Given the description of an element on the screen output the (x, y) to click on. 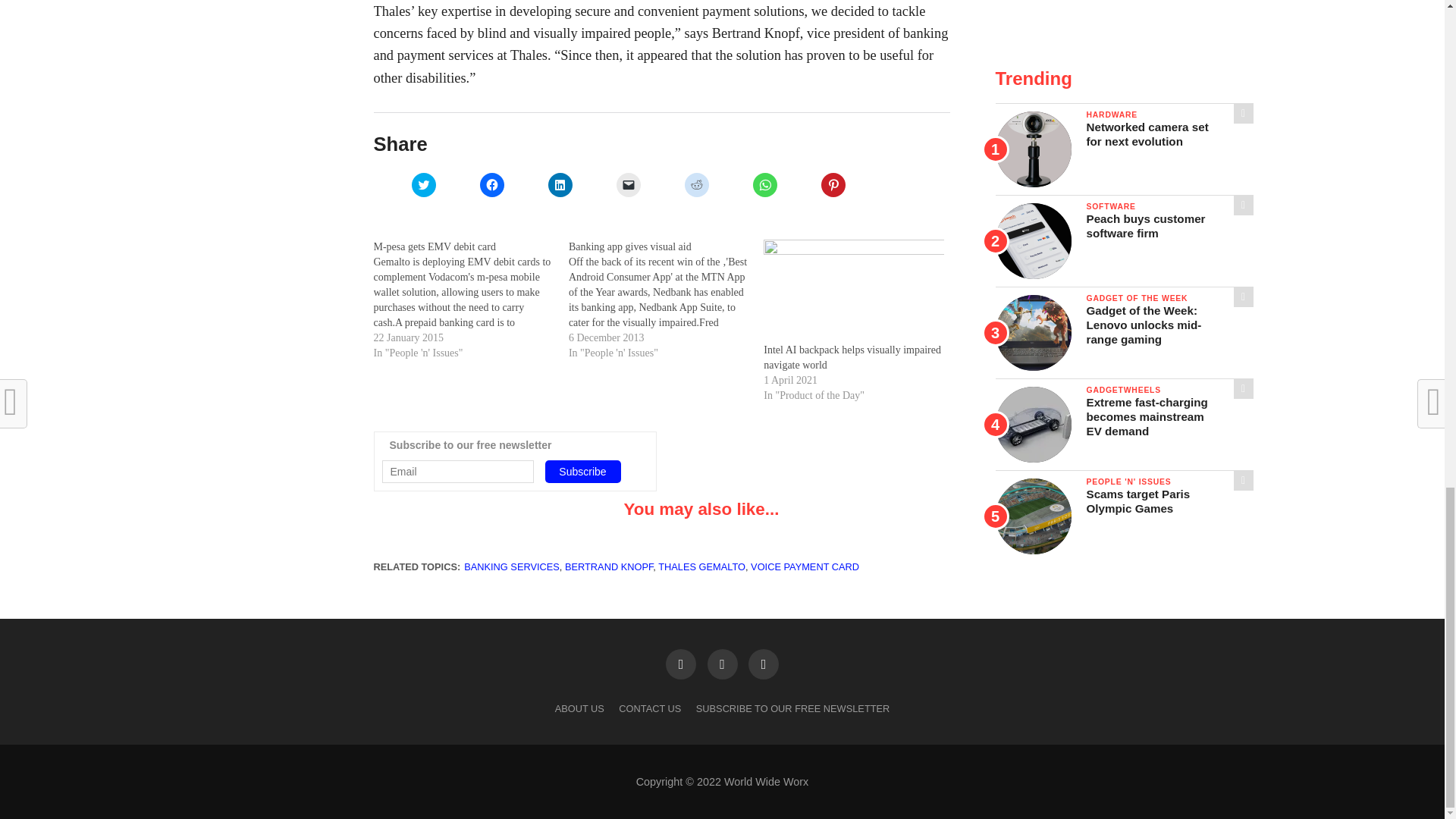
Click to share on Pinterest (832, 184)
Subscribe (582, 471)
Click to share on Reddit (695, 184)
Click to share on WhatsApp (764, 184)
Click to share on LinkedIn (559, 184)
Click to email a link to a friend (627, 184)
M-pesa gets EMV debit card (469, 300)
Click to share on Twitter (422, 184)
Click to share on Facebook (491, 184)
